Given the description of an element on the screen output the (x, y) to click on. 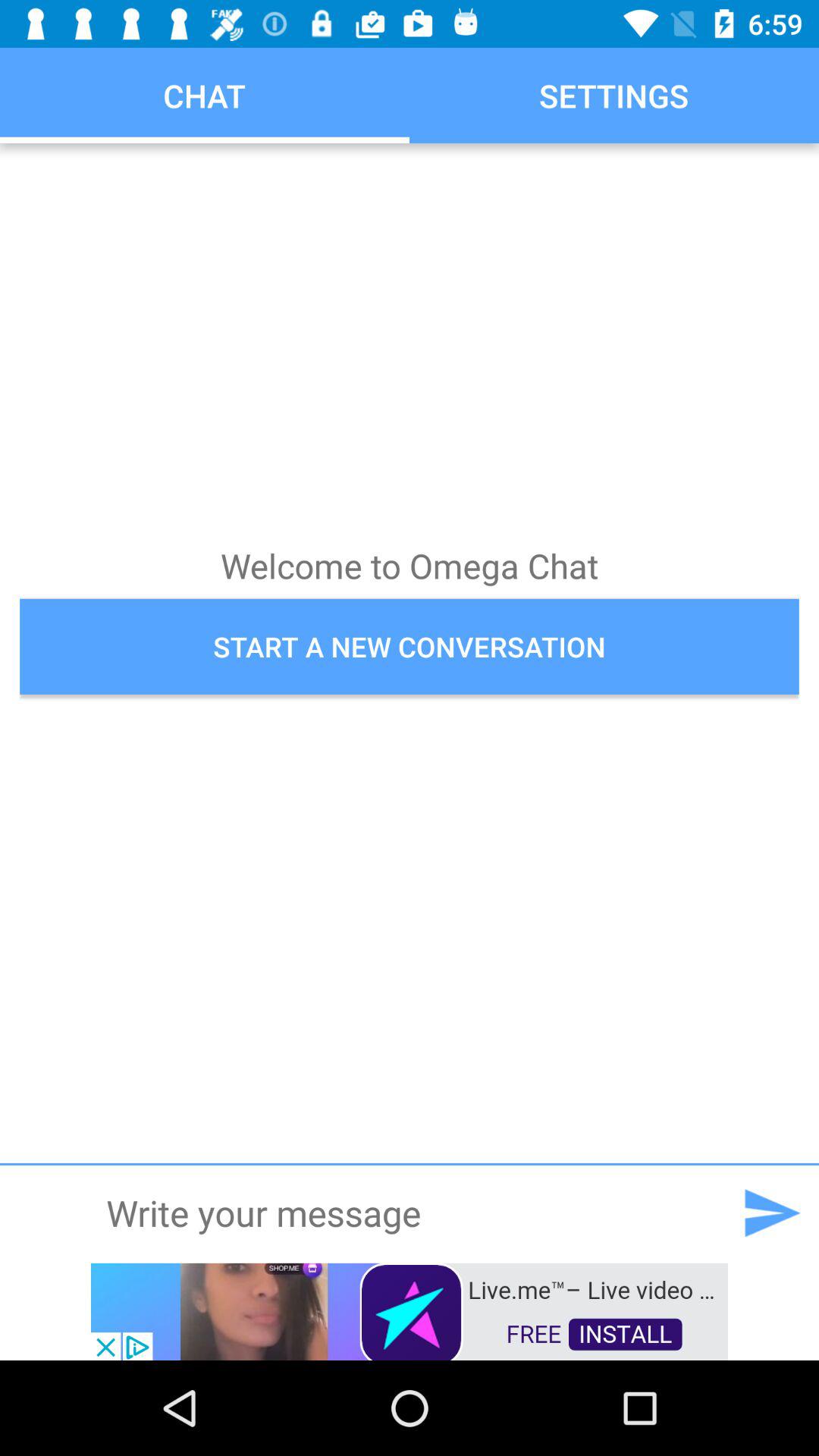
click advertisement (409, 1310)
